Given the description of an element on the screen output the (x, y) to click on. 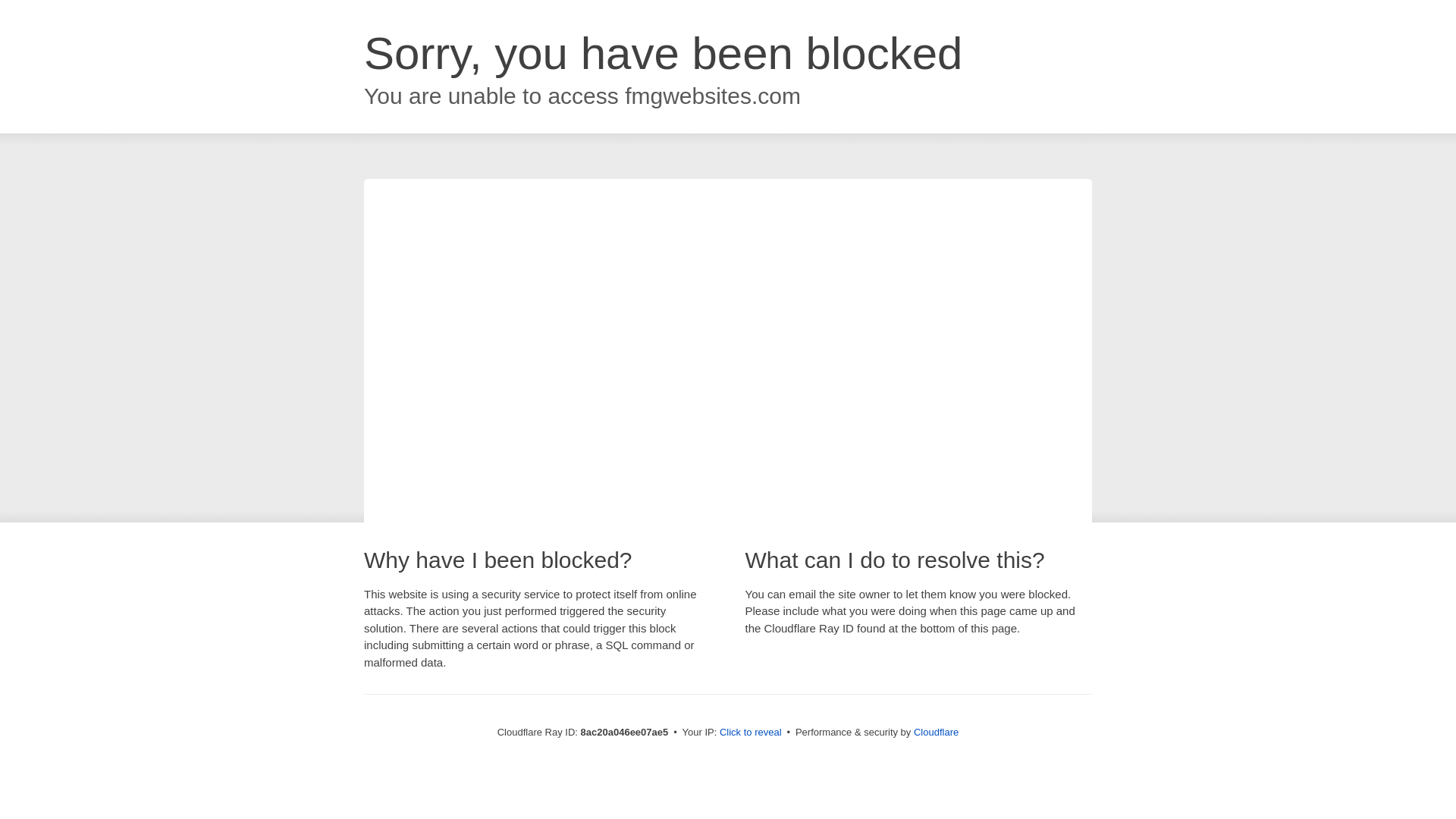
Click to reveal (750, 732)
Cloudflare (936, 731)
